Given the description of an element on the screen output the (x, y) to click on. 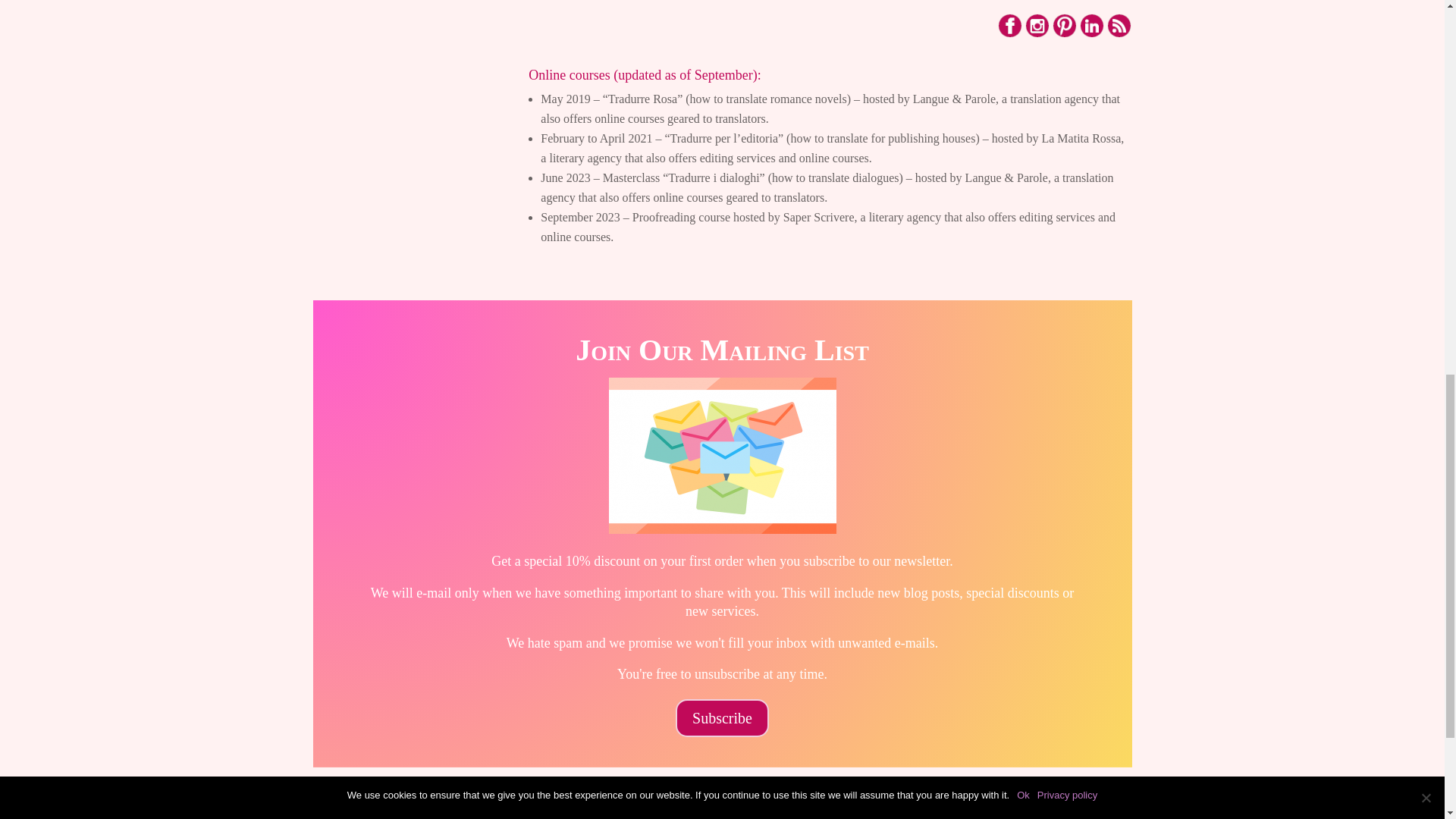
Subscribe (721, 718)
